Given the description of an element on the screen output the (x, y) to click on. 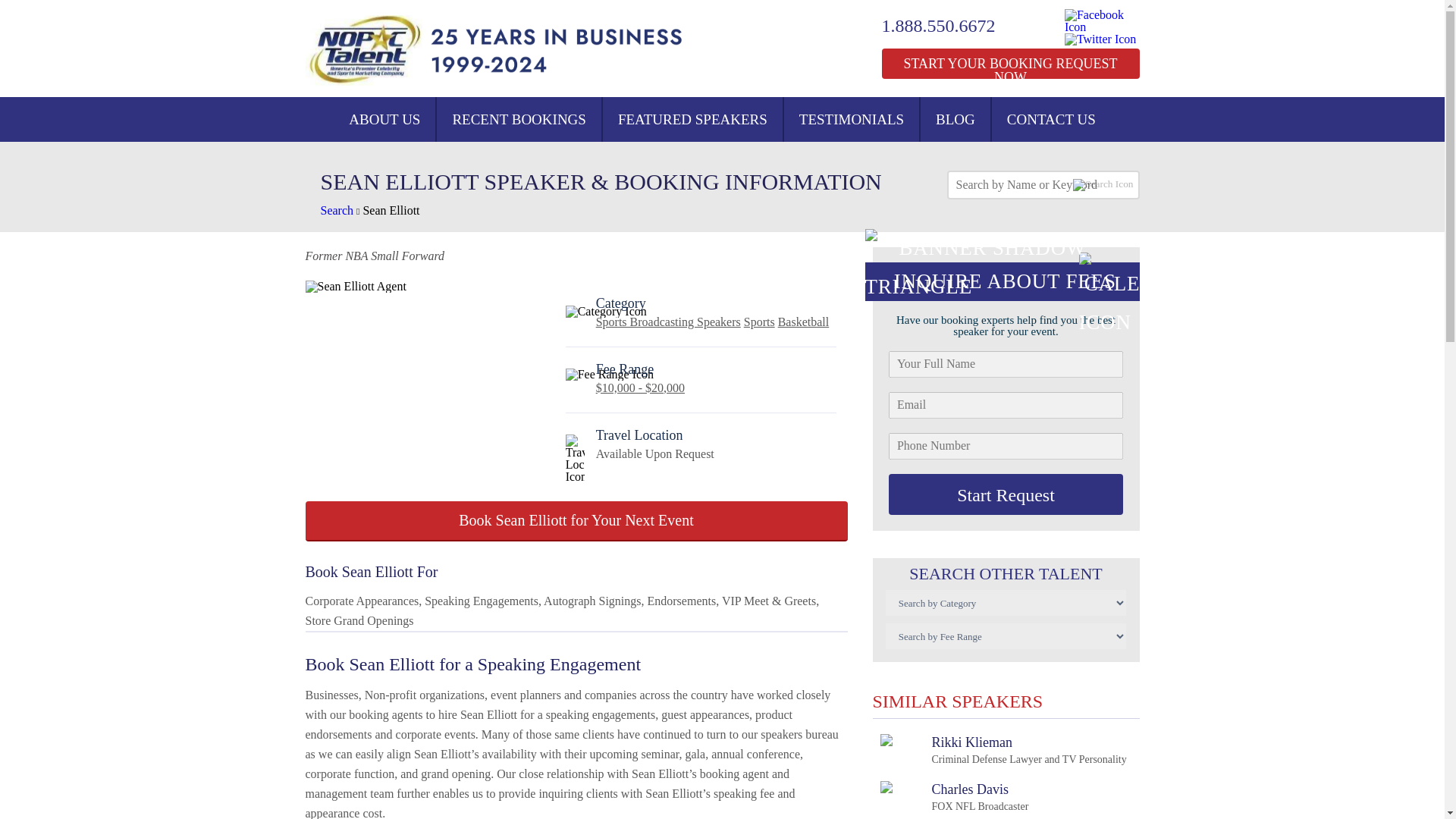
BLOG (955, 119)
Sean Elliott (390, 210)
TESTIMONIALS (851, 119)
Basketball (803, 321)
FEATURED SPEAKERS (692, 119)
CONTACT US (1050, 119)
START YOUR BOOKING REQUEST NOW (1002, 749)
RECENT BOOKINGS (1009, 63)
1.888.550.6672 (517, 119)
